Given the description of an element on the screen output the (x, y) to click on. 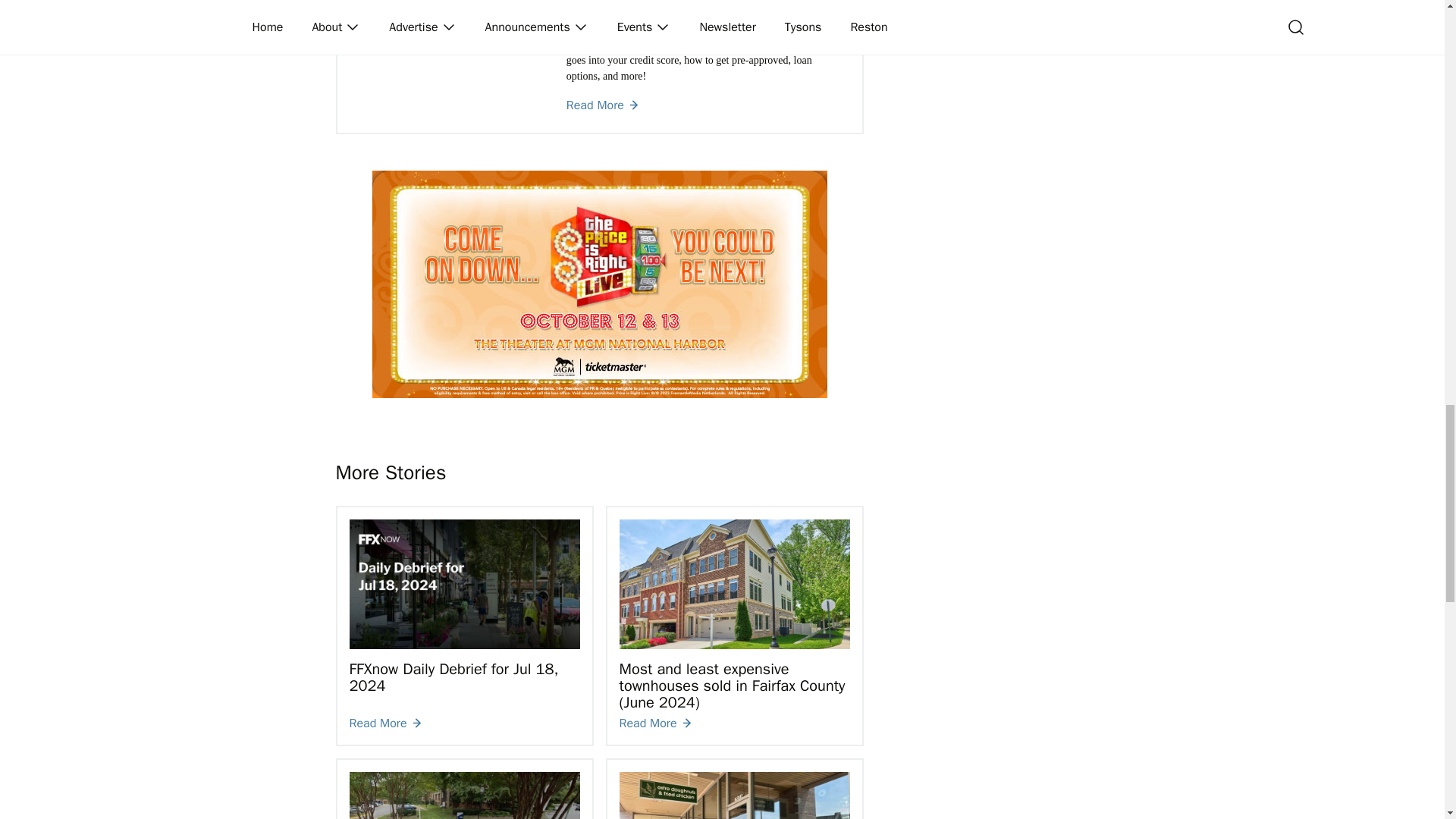
Price is Right  (599, 284)
